Given the description of an element on the screen output the (x, y) to click on. 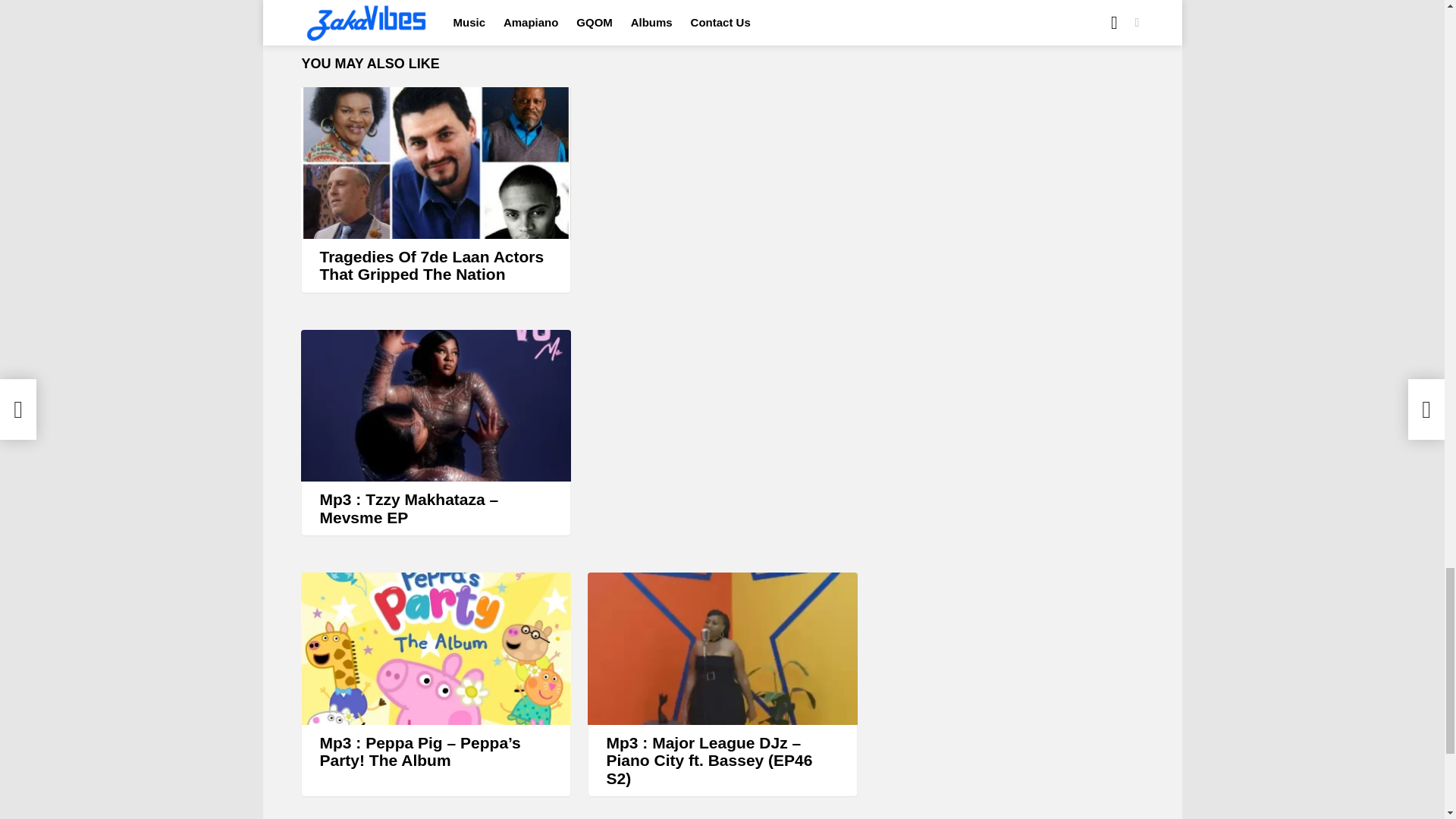
Tragedies Of 7de Laan Actors That Gripped The Nation (434, 162)
